Given the description of an element on the screen output the (x, y) to click on. 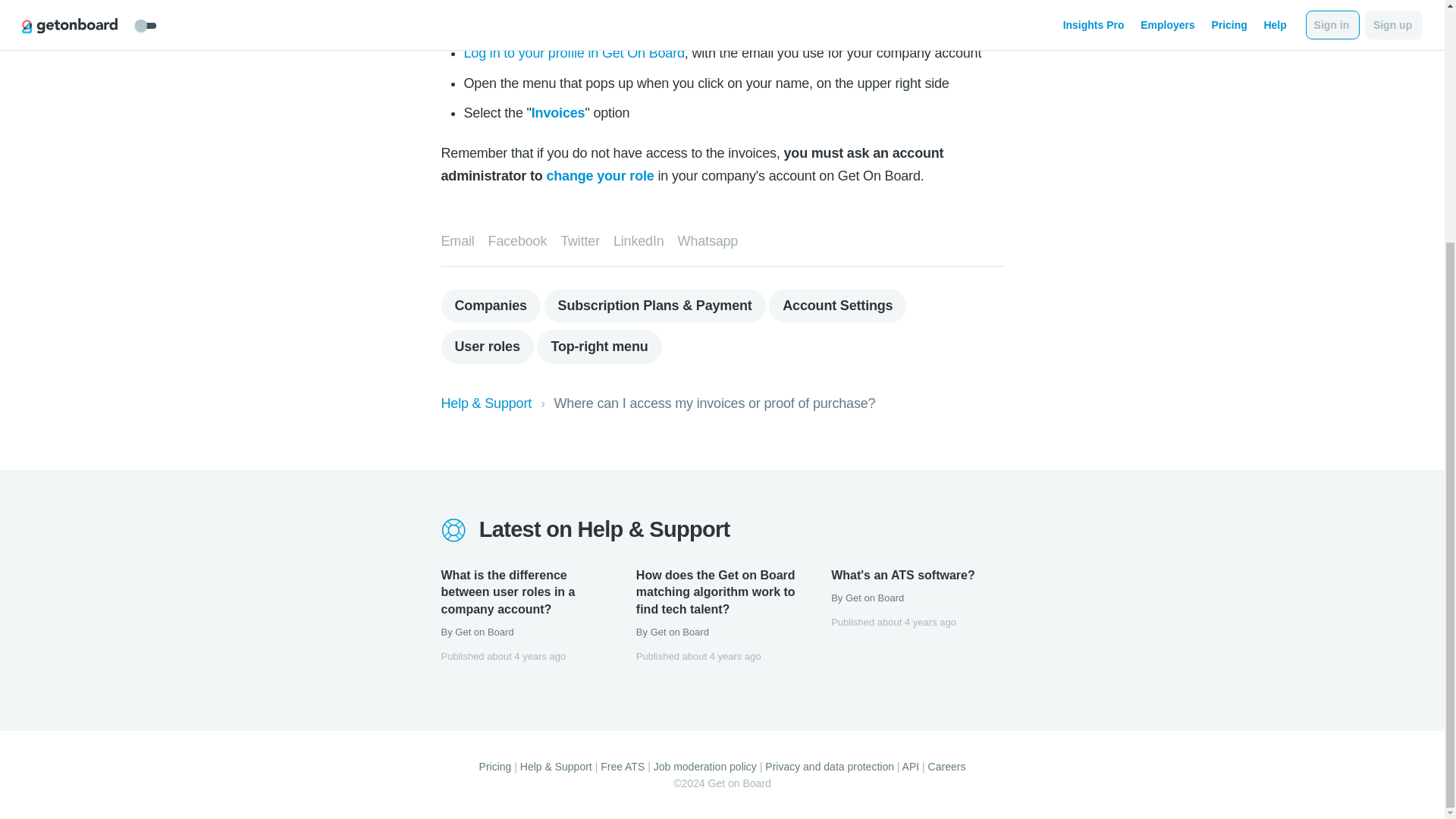
Where can I access my invoices or proof of purchase? (715, 403)
Articles about Top-right menu (599, 346)
Whatsapp (708, 240)
Twitter (579, 240)
Invoices (558, 112)
Pricing (495, 766)
User roles (487, 346)
Articles about User roles (487, 346)
